Given the description of an element on the screen output the (x, y) to click on. 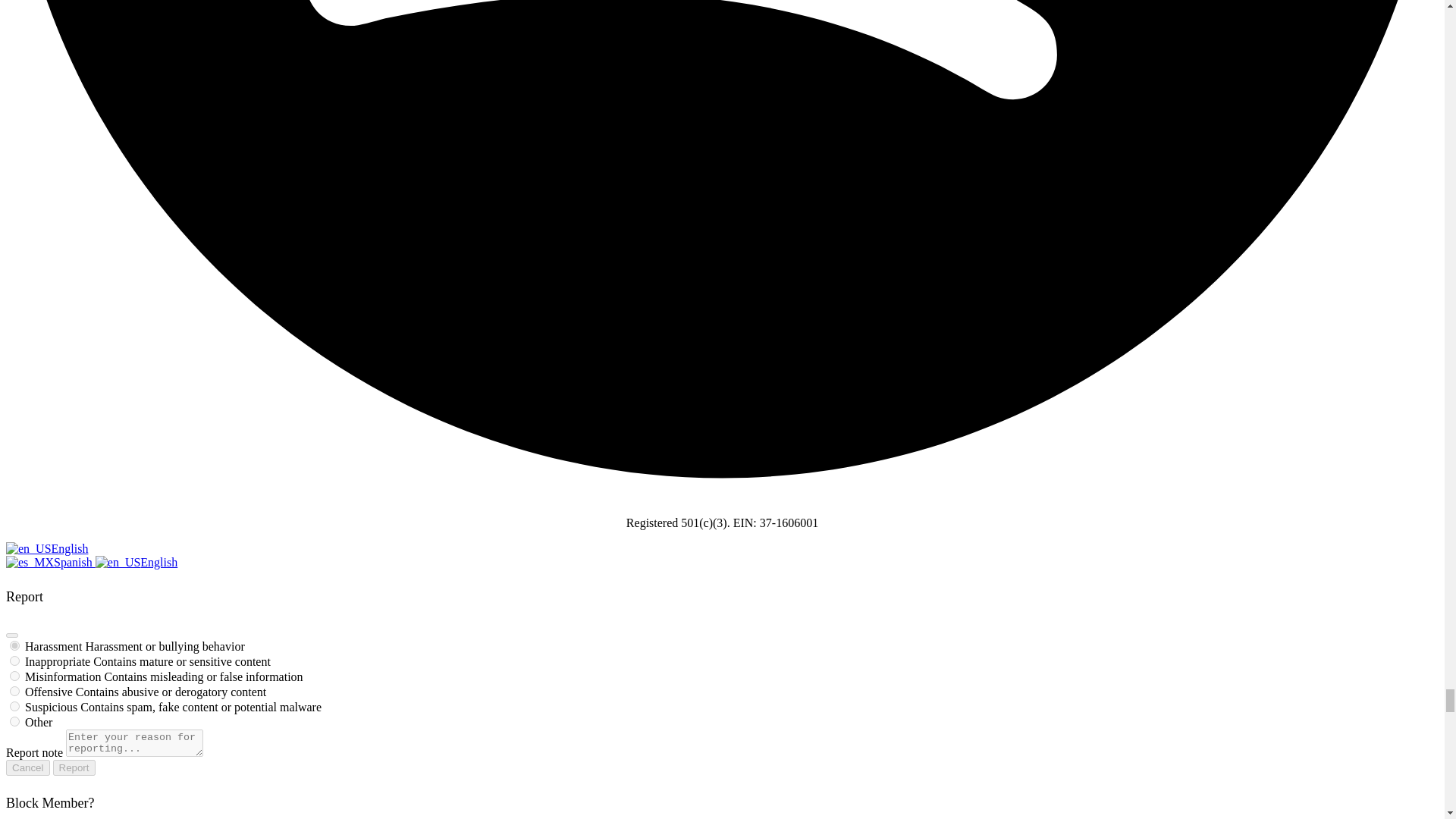
other (15, 721)
369 (15, 691)
Spanish (29, 562)
373 (15, 645)
371 (15, 675)
Cancel (27, 767)
English (118, 562)
English (27, 549)
370 (15, 660)
Spanish (50, 562)
